Given the description of an element on the screen output the (x, y) to click on. 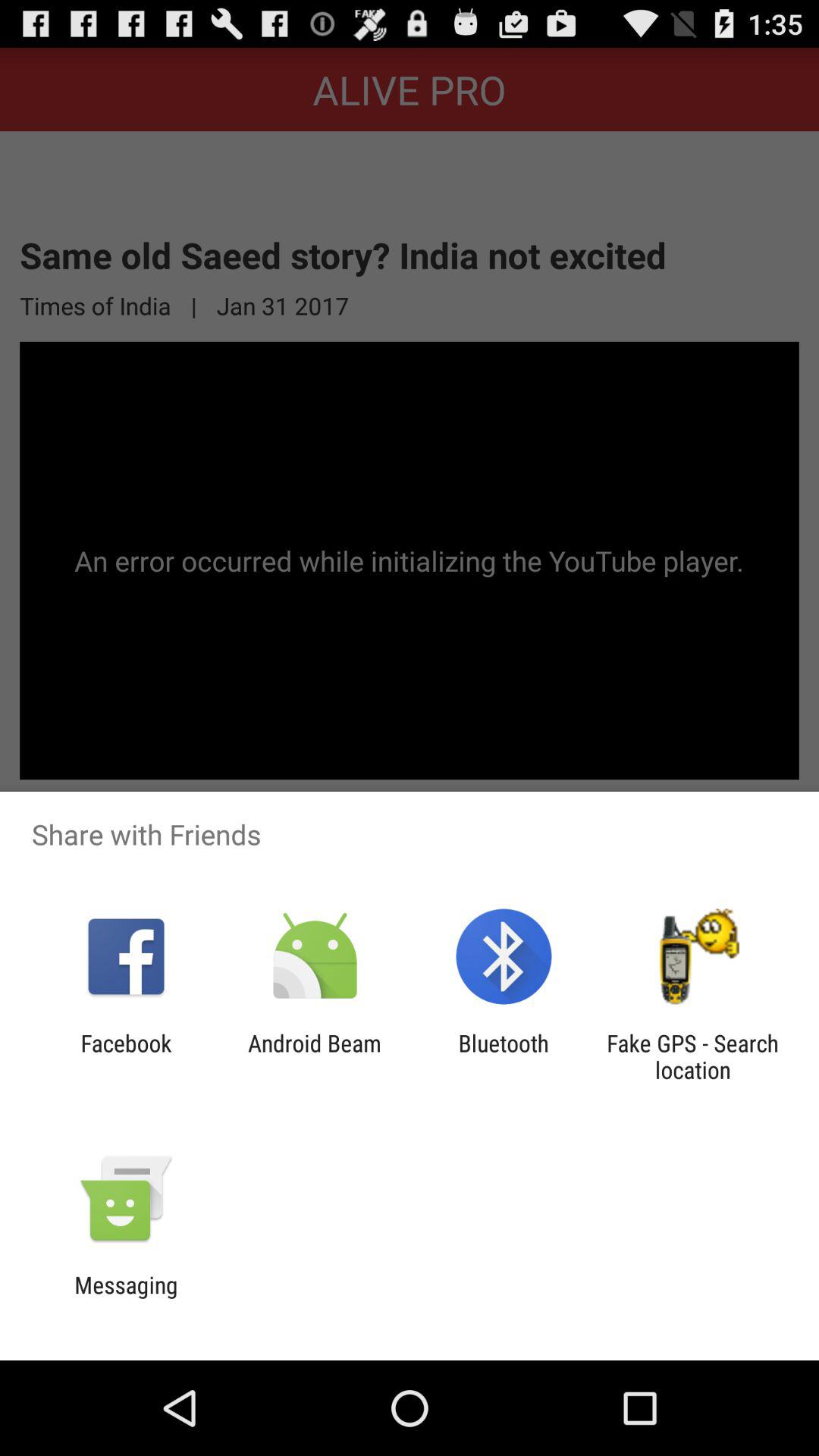
turn on app next to the bluetooth app (314, 1056)
